Given the description of an element on the screen output the (x, y) to click on. 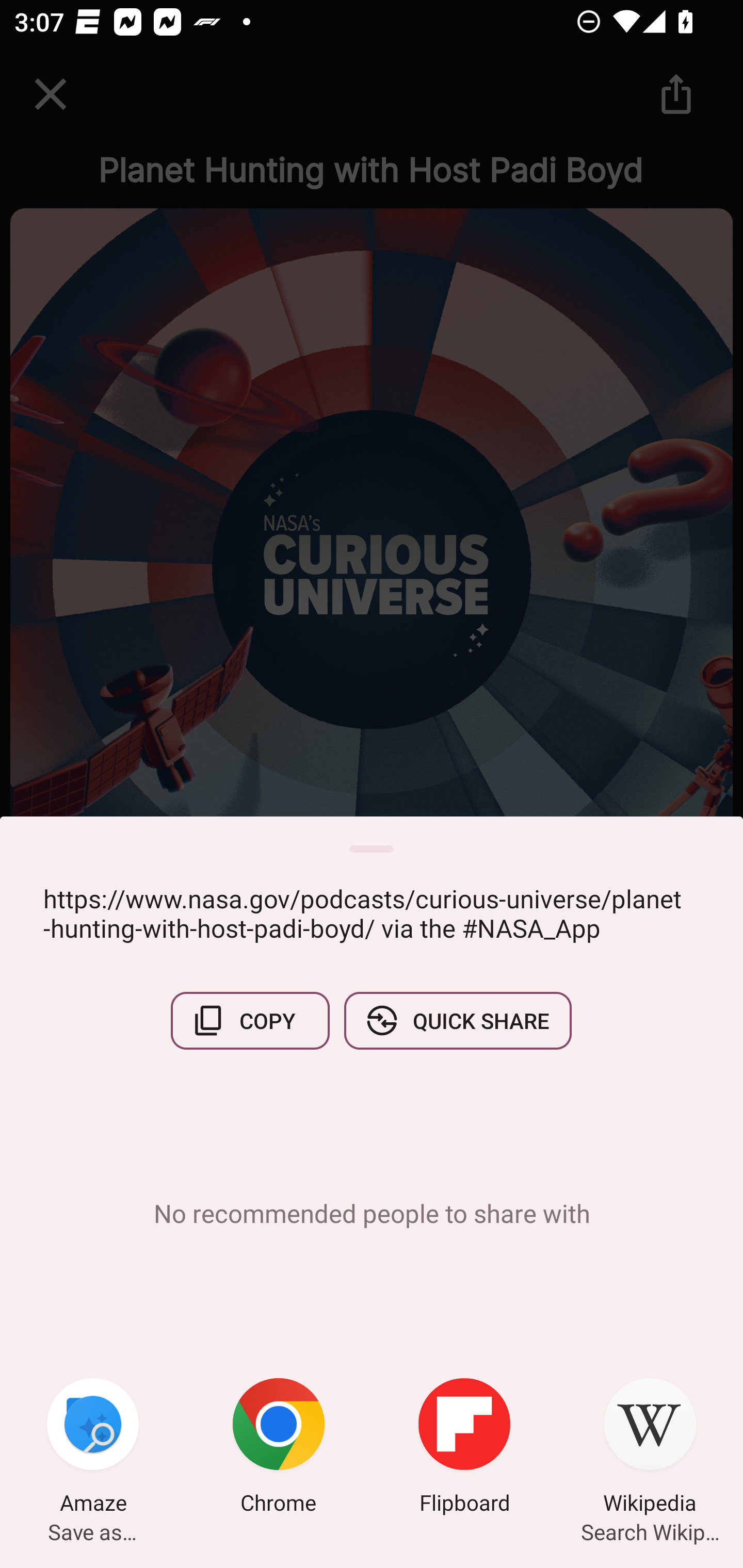
COPY (249, 1020)
QUICK SHARE (457, 1020)
Amaze Save as… (92, 1448)
Chrome (278, 1448)
Flipboard (464, 1448)
Wikipedia Search Wikipedia (650, 1448)
